Given the description of an element on the screen output the (x, y) to click on. 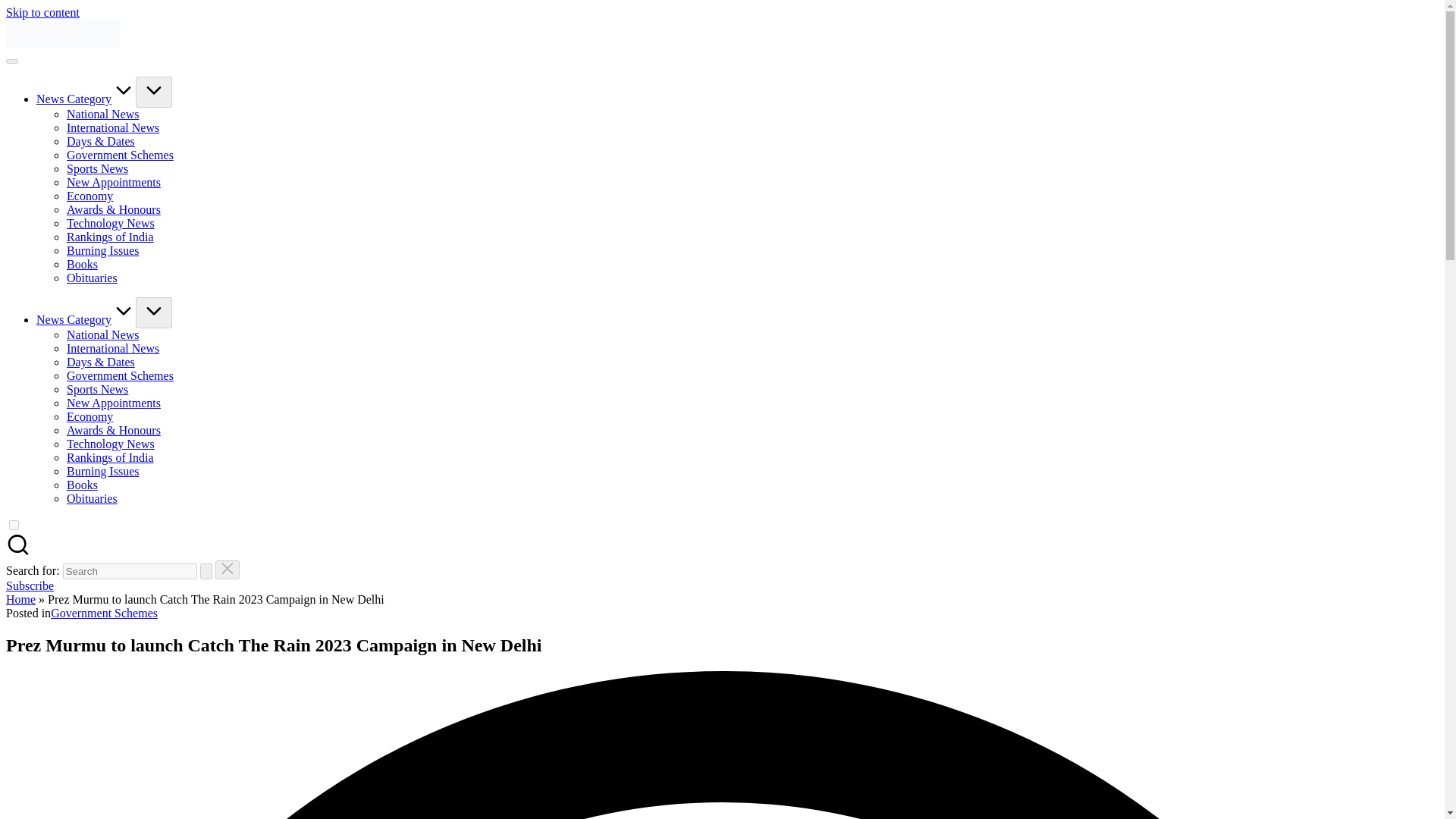
News Category (85, 98)
Government Schemes (119, 375)
International News (112, 127)
Technology News (110, 223)
Burning Issues (102, 250)
Rankings of India (110, 457)
Rankings of India (110, 236)
Economy (89, 416)
National News (102, 113)
International News (112, 348)
Obituaries (91, 277)
Books (81, 264)
National News (102, 334)
Economy (89, 195)
Burning Issues (102, 471)
